Given the description of an element on the screen output the (x, y) to click on. 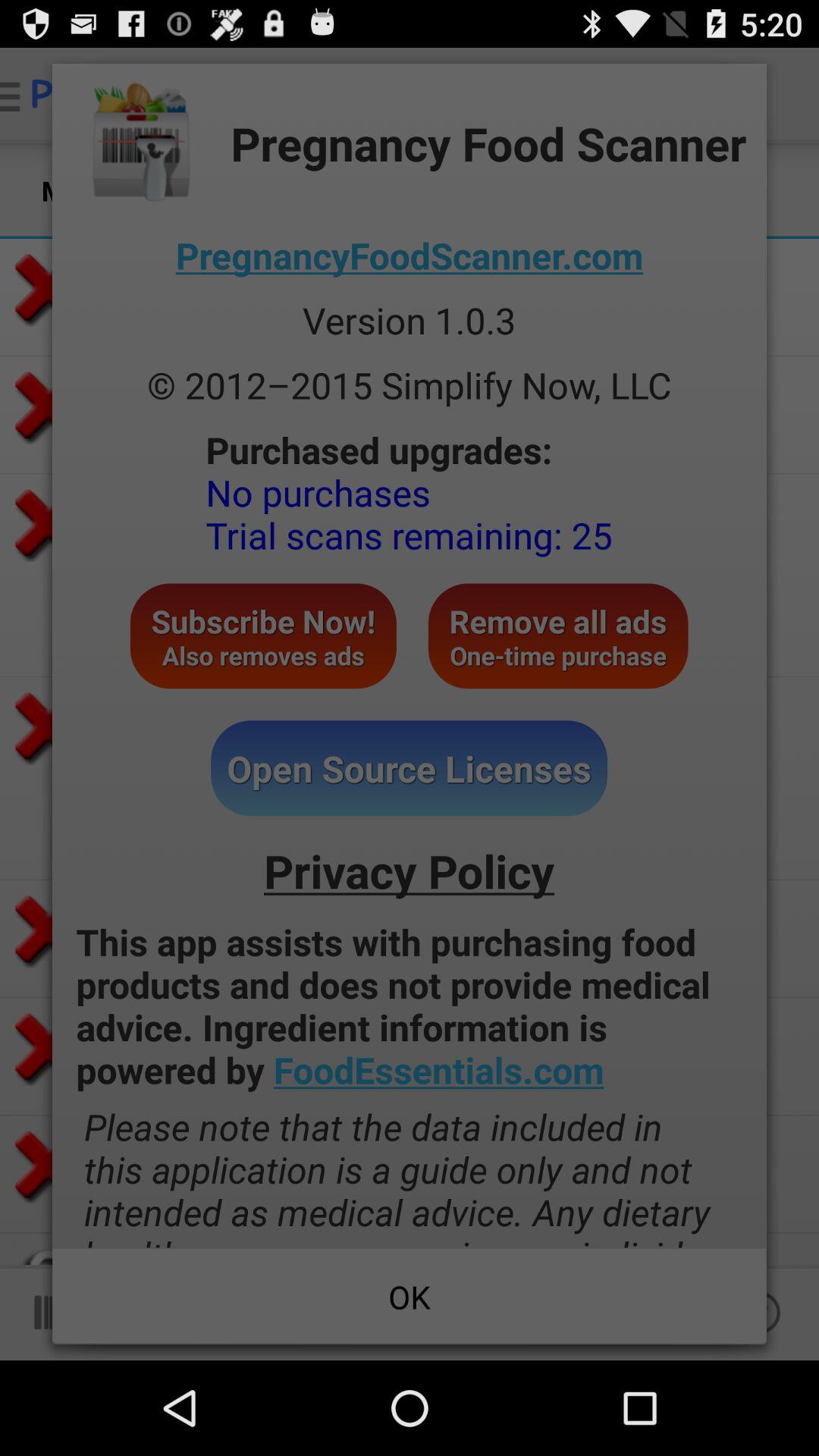
press the app below please note that item (409, 1296)
